Given the description of an element on the screen output the (x, y) to click on. 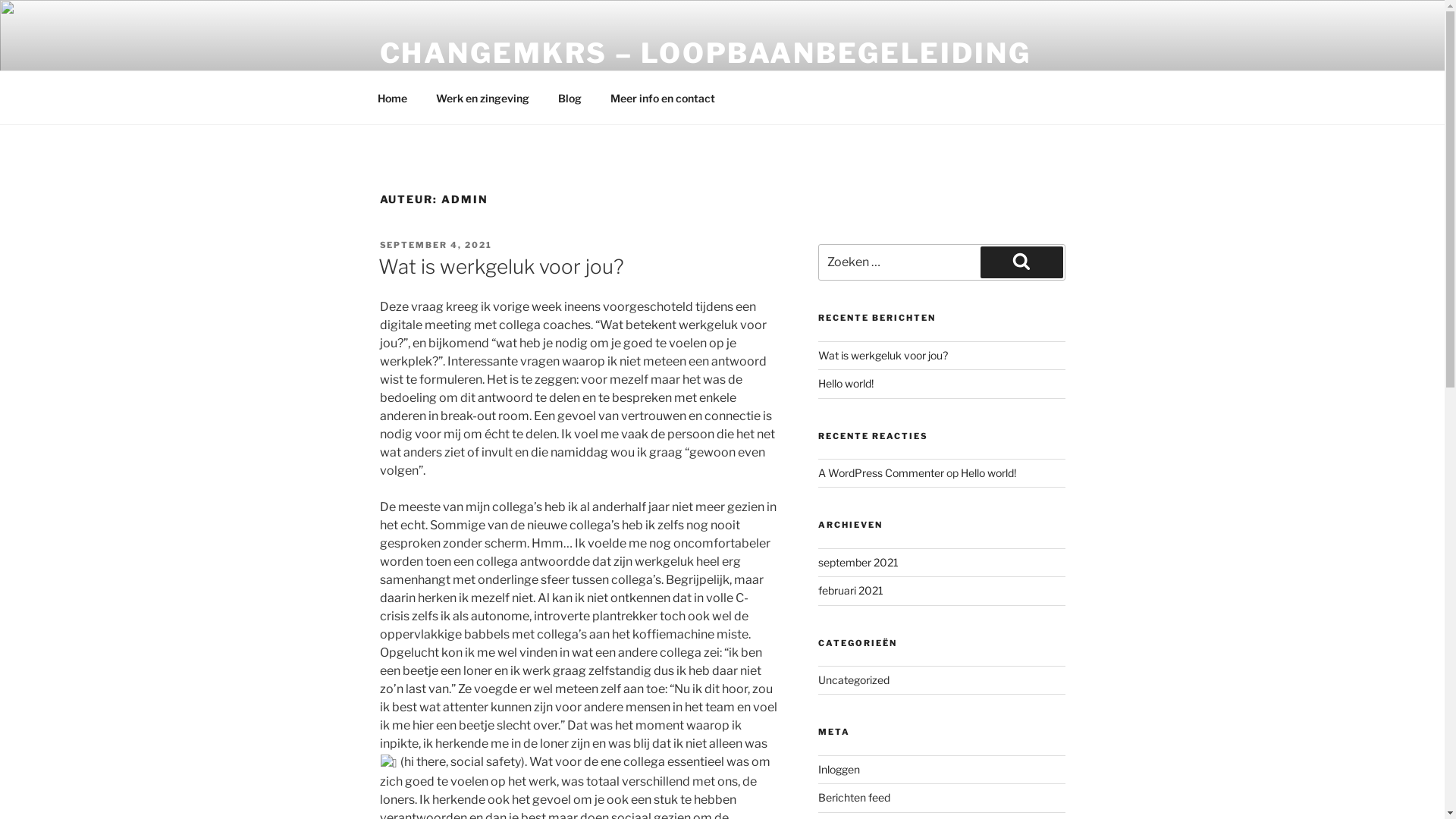
A WordPress Commenter Element type: text (881, 472)
februari 2021 Element type: text (850, 589)
Hello world! Element type: text (845, 382)
Meer info en contact Element type: text (662, 97)
Werk en zingeving Element type: text (482, 97)
SEPTEMBER 4, 2021 Element type: text (435, 244)
Blog Element type: text (569, 97)
Home Element type: text (392, 97)
september 2021 Element type: text (858, 561)
Inloggen Element type: text (838, 768)
Hello world! Element type: text (988, 472)
Zoeken Element type: text (1020, 262)
Wat is werkgeluk voor jou? Element type: text (882, 354)
Uncategorized Element type: text (853, 679)
Berichten feed Element type: text (854, 796)
Wat is werkgeluk voor jou? Element type: text (500, 266)
